Given the description of an element on the screen output the (x, y) to click on. 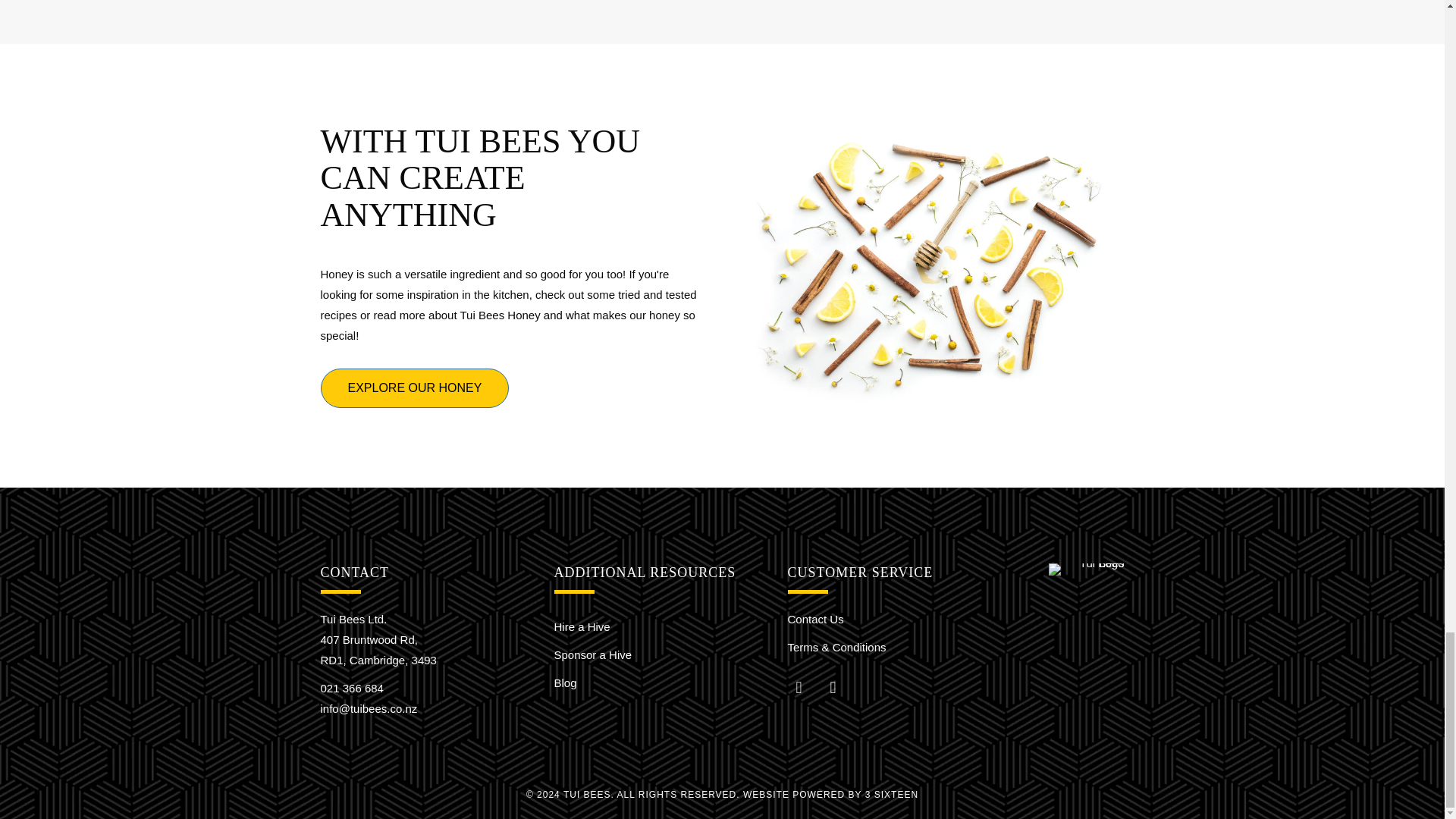
Instagram (831, 687)
Facebook (798, 687)
Contact Us (815, 618)
HoneyLayout-things (930, 265)
Sponsor a Hive (592, 654)
Blog (564, 682)
3 SIXTEEN (891, 794)
Hire a Hive (581, 626)
EXPLORE OUR HONEY (414, 387)
TuiBees-Logo-Reverse (1086, 569)
